Given the description of an element on the screen output the (x, y) to click on. 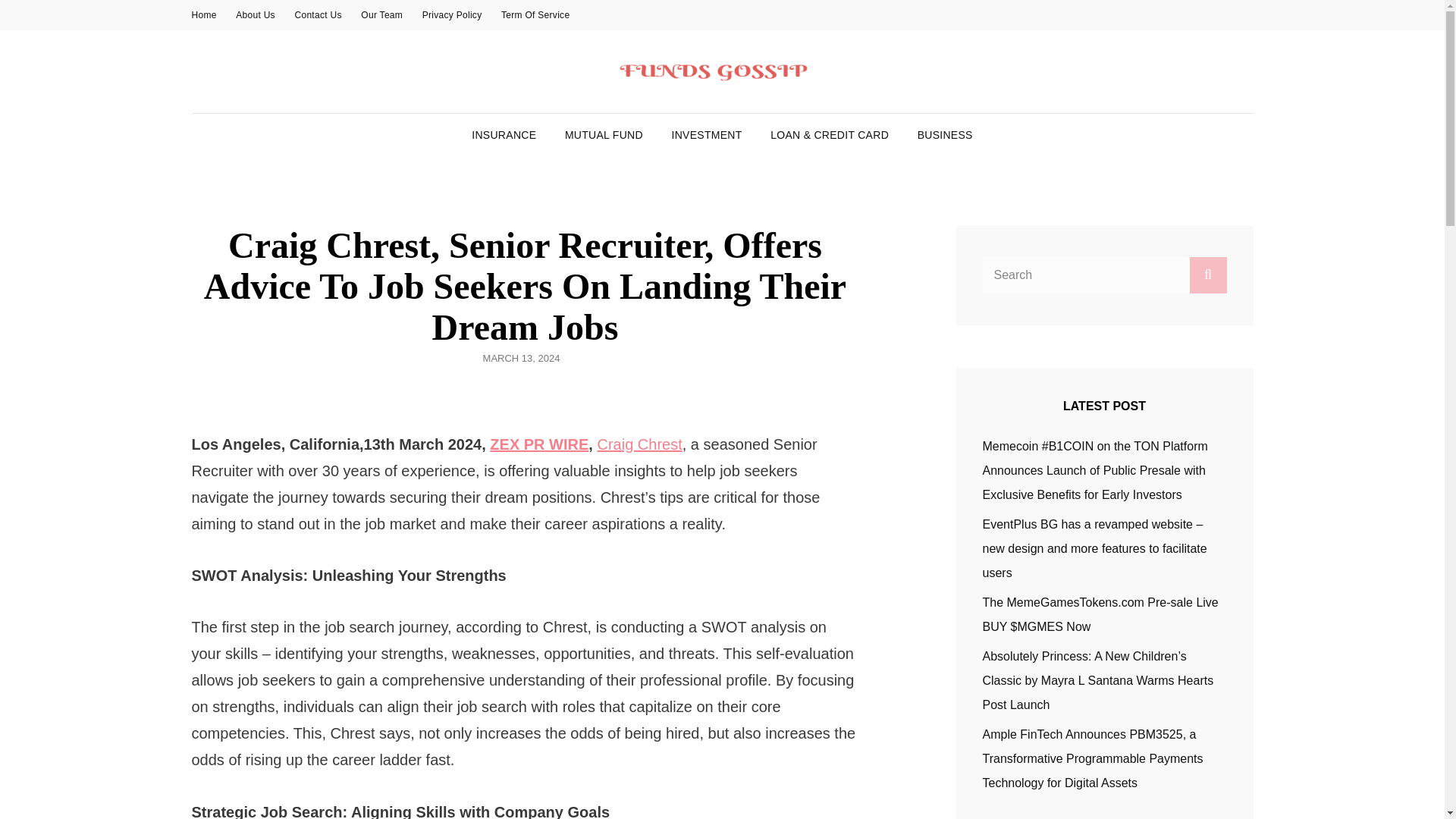
Term Of Service (534, 15)
INSURANCE (504, 134)
About Us (255, 15)
BUSINESS (945, 134)
Home (203, 15)
Craig Chrest (638, 443)
Privacy Policy (451, 15)
MARCH 13, 2024 (521, 357)
MUTUAL FUND (604, 134)
INVESTMENT (706, 134)
ZEX PR WIRE (538, 443)
Contact Us (317, 15)
Our Team (381, 15)
Search (1207, 275)
